Given the description of an element on the screen output the (x, y) to click on. 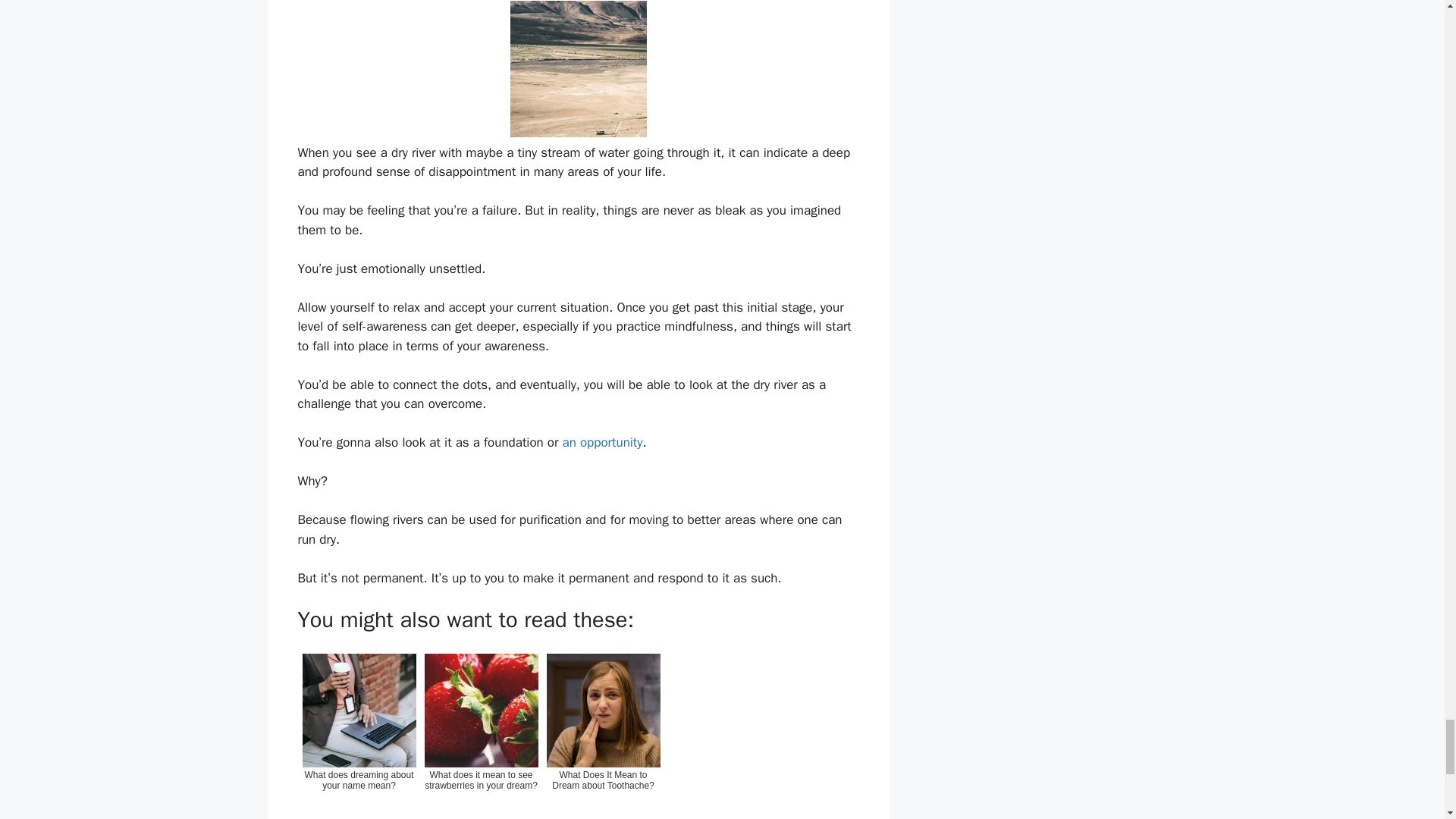
an opportunity (602, 442)
